Given the description of an element on the screen output the (x, y) to click on. 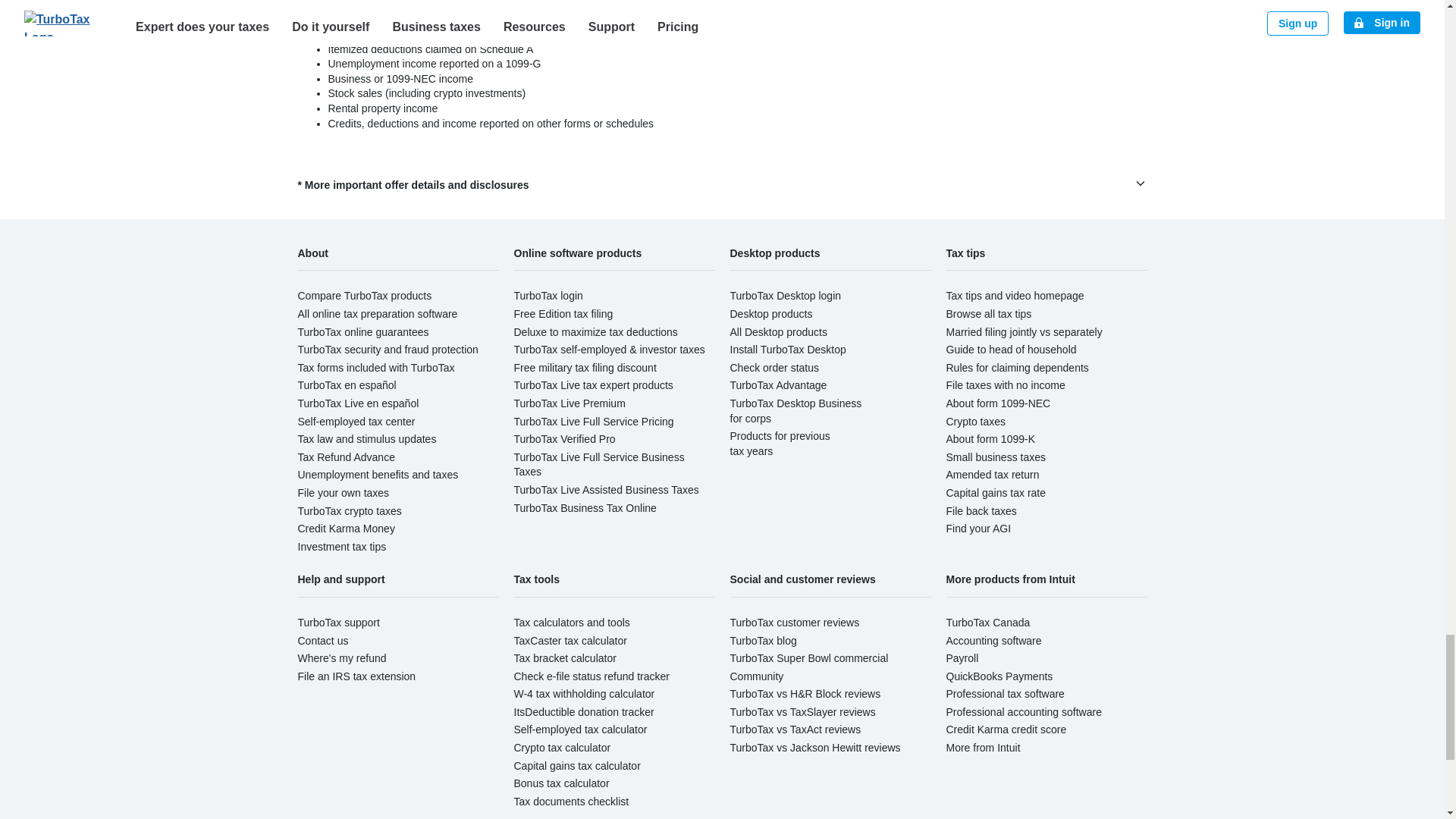
Free Edition tax filing (562, 313)
TurboTax login (548, 295)
TurboTax Live tax expert products (592, 385)
TurboTax Verified Pro (564, 439)
Compare TurboTax products (363, 295)
All online tax preparation software (377, 313)
TurboTax Advantage program (778, 385)
Check order status (773, 367)
TurboTax Business for corps (795, 411)
Install TurboTax Desktop (787, 349)
